Given the description of an element on the screen output the (x, y) to click on. 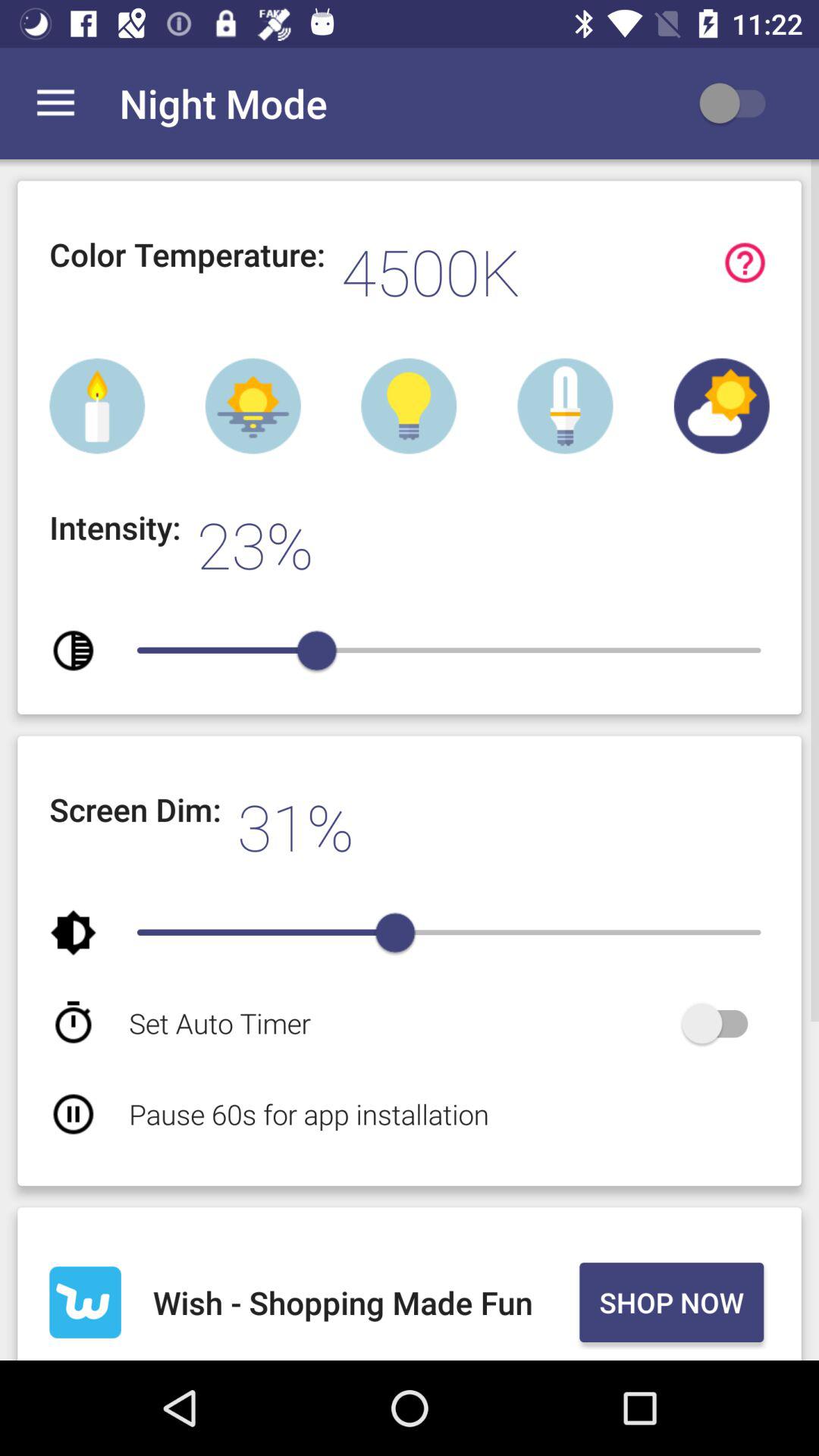
switch autoplay option (722, 1023)
